Given the description of an element on the screen output the (x, y) to click on. 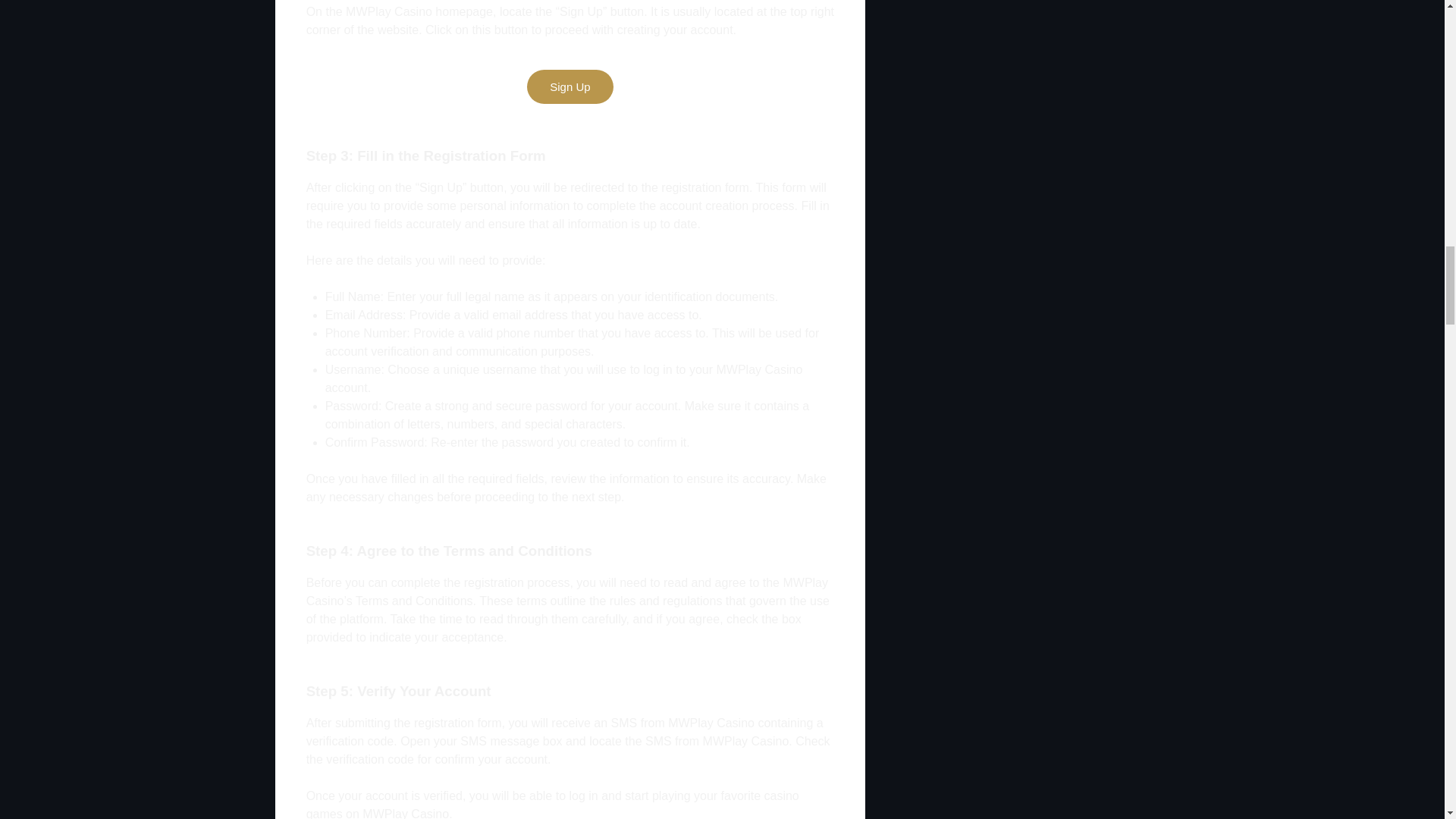
Sign Up (569, 86)
